Given the description of an element on the screen output the (x, y) to click on. 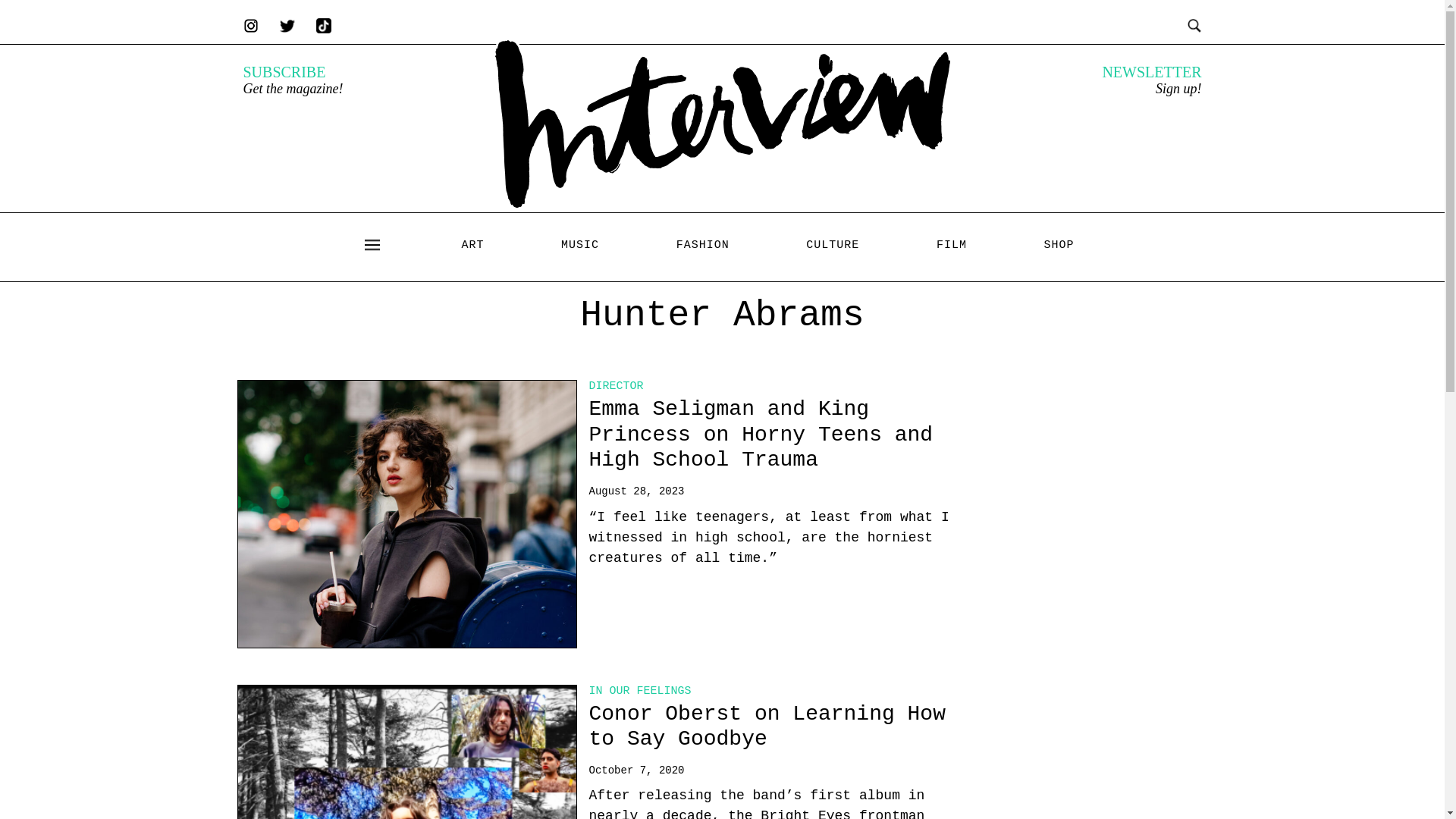
SHOP (1058, 245)
CULTURE (832, 245)
NEWSLETTER (1151, 71)
FASHION (703, 245)
FILM (951, 245)
MUSIC (579, 245)
SUBSCRIBE (283, 71)
ART (472, 245)
